Given the description of an element on the screen output the (x, y) to click on. 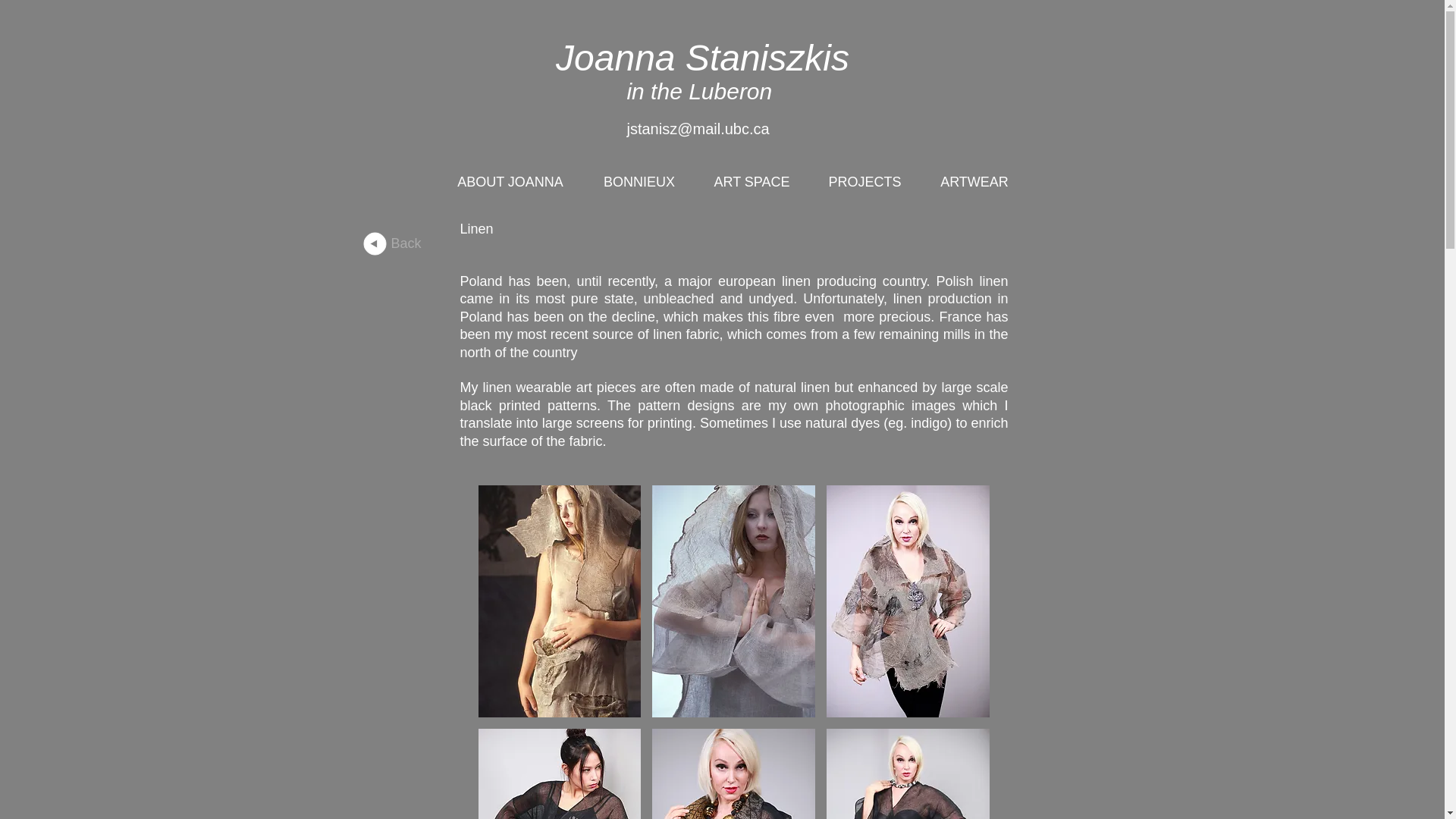
PROJECTS (864, 182)
ARTWEAR (973, 182)
BONNIEUX (639, 182)
ABOUT JOANNA (509, 182)
ART SPACE (751, 182)
in the Luberon  (701, 91)
Joanna Staniszkis (702, 57)
Back (405, 243)
